Given the description of an element on the screen output the (x, y) to click on. 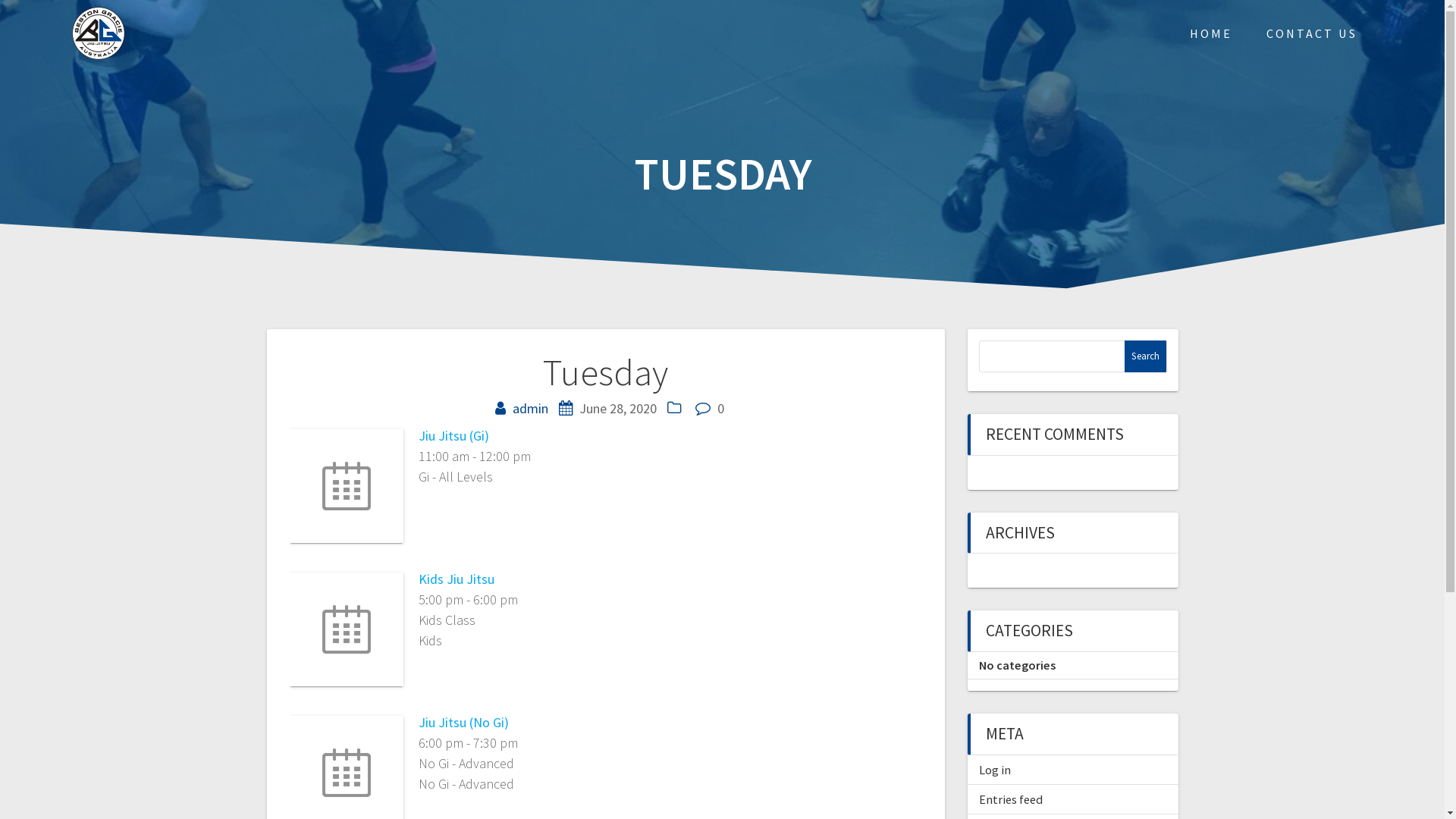
admin Element type: text (530, 408)
Search Element type: text (1144, 356)
CONTACT US Element type: text (1311, 33)
Log in Element type: text (994, 769)
Entries feed Element type: text (1009, 798)
HOME Element type: text (1210, 33)
Jiu Jitsu (No Gi) Element type: text (463, 722)
Jiu Jitsu (Gi) Element type: text (453, 435)
Kids Jiu Jitsu Element type: text (456, 578)
